Given the description of an element on the screen output the (x, y) to click on. 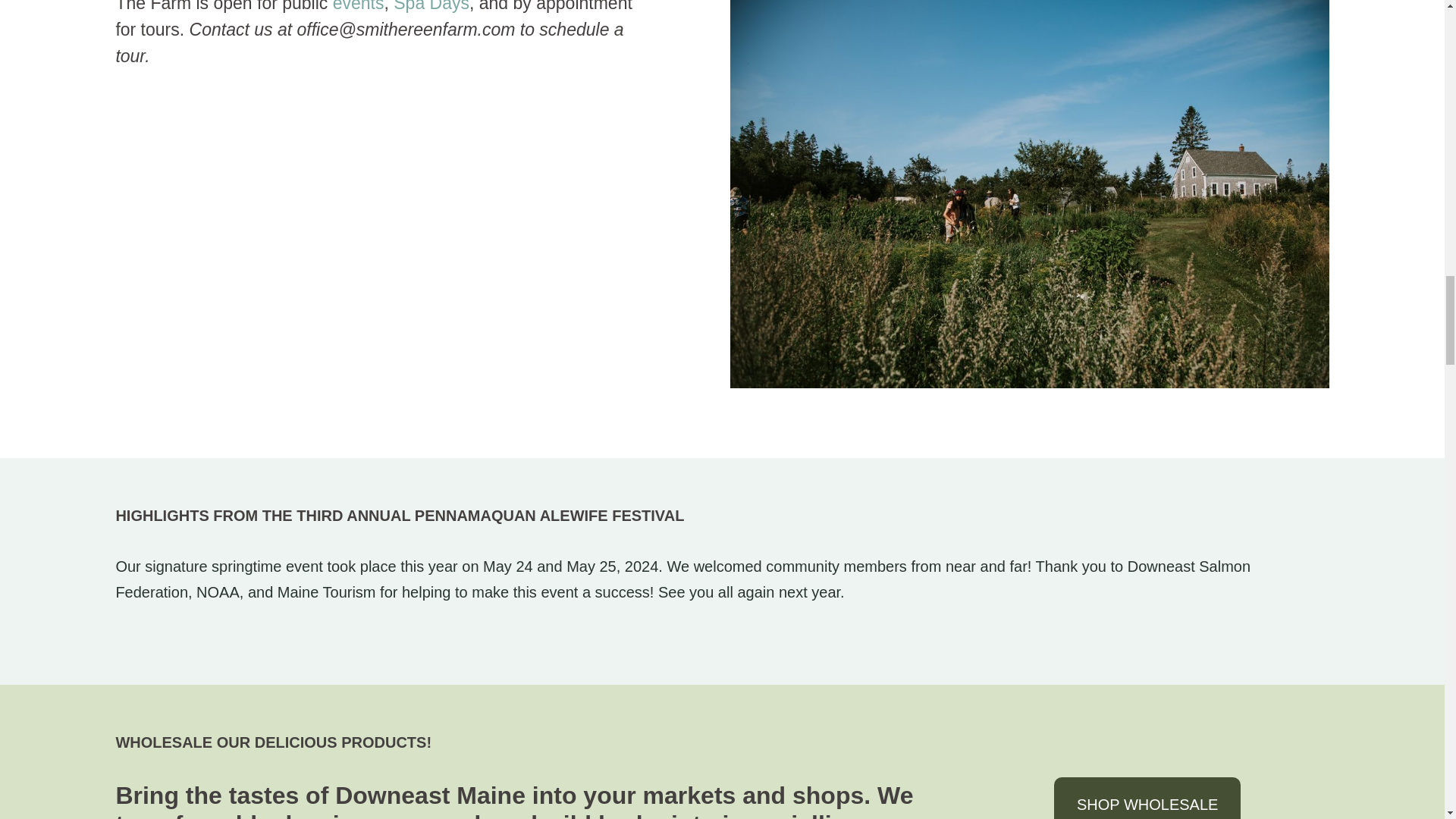
Spa Days (430, 6)
SHOP WHOLESALE (1147, 798)
events (358, 6)
